Given the description of an element on the screen output the (x, y) to click on. 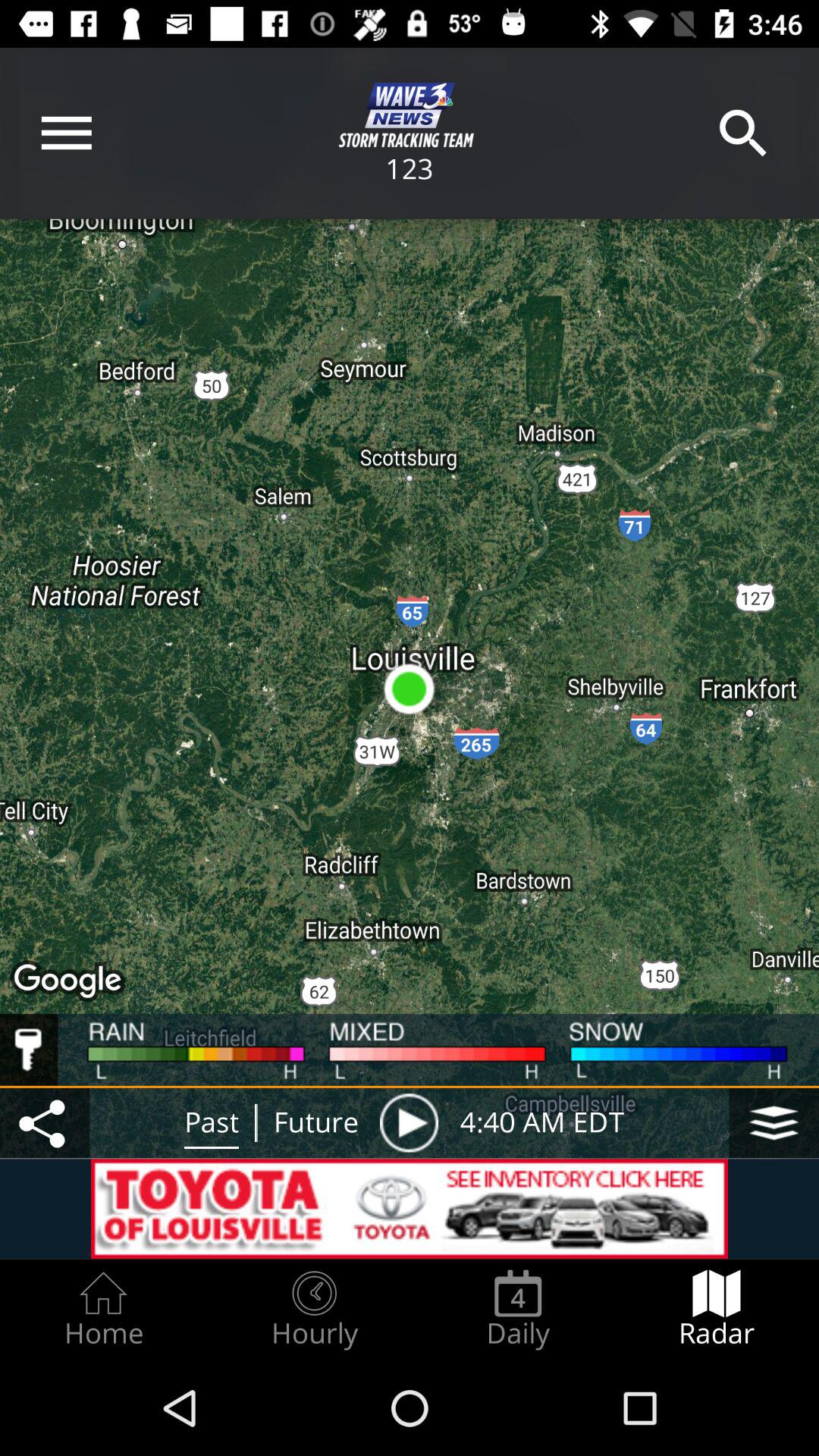
tap item next to 4 40 am icon (774, 1122)
